Given the description of an element on the screen output the (x, y) to click on. 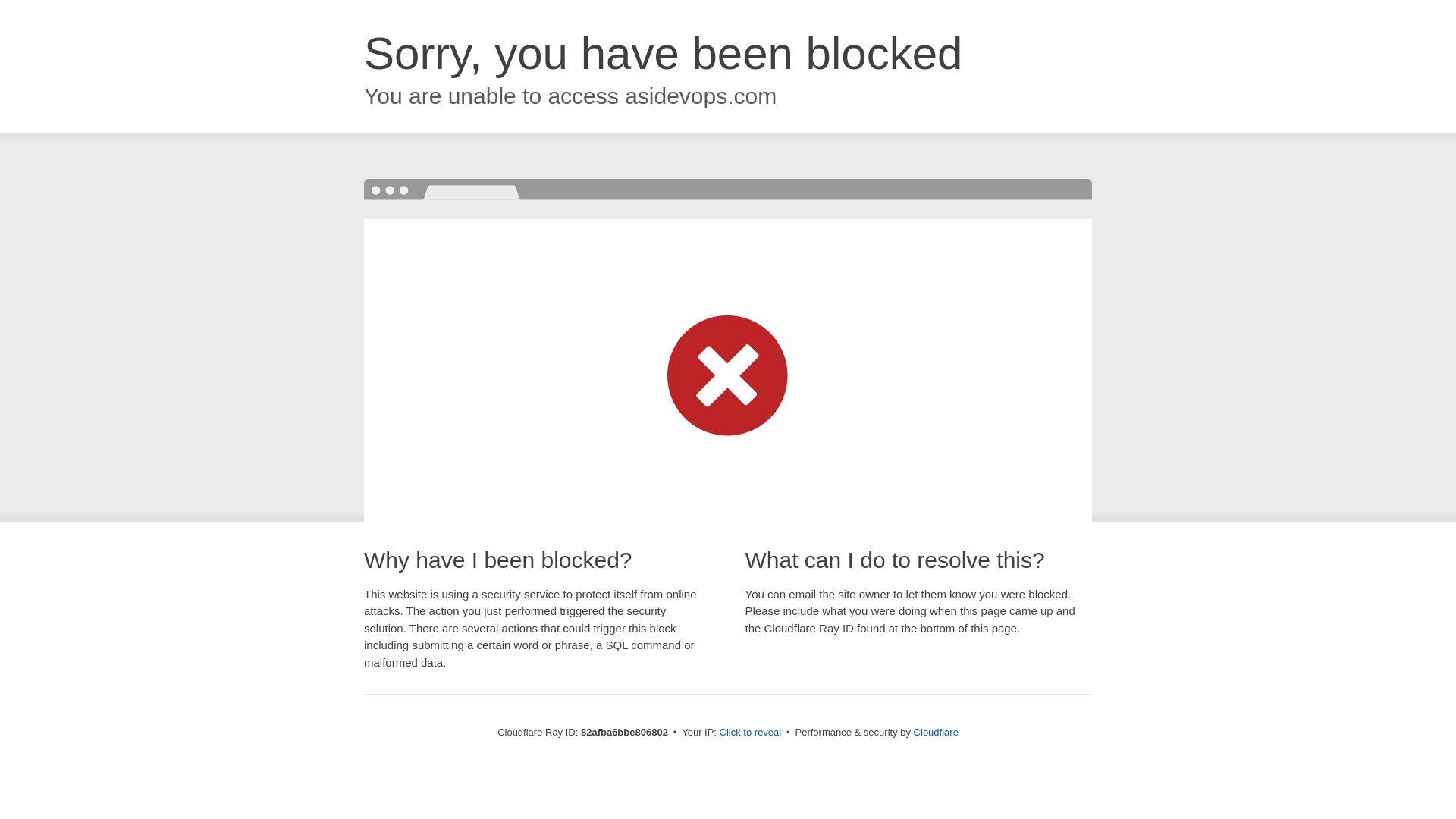
Click to reveal Element type: text (750, 732)
Cloudflare Element type: text (935, 731)
